Given the description of an element on the screen output the (x, y) to click on. 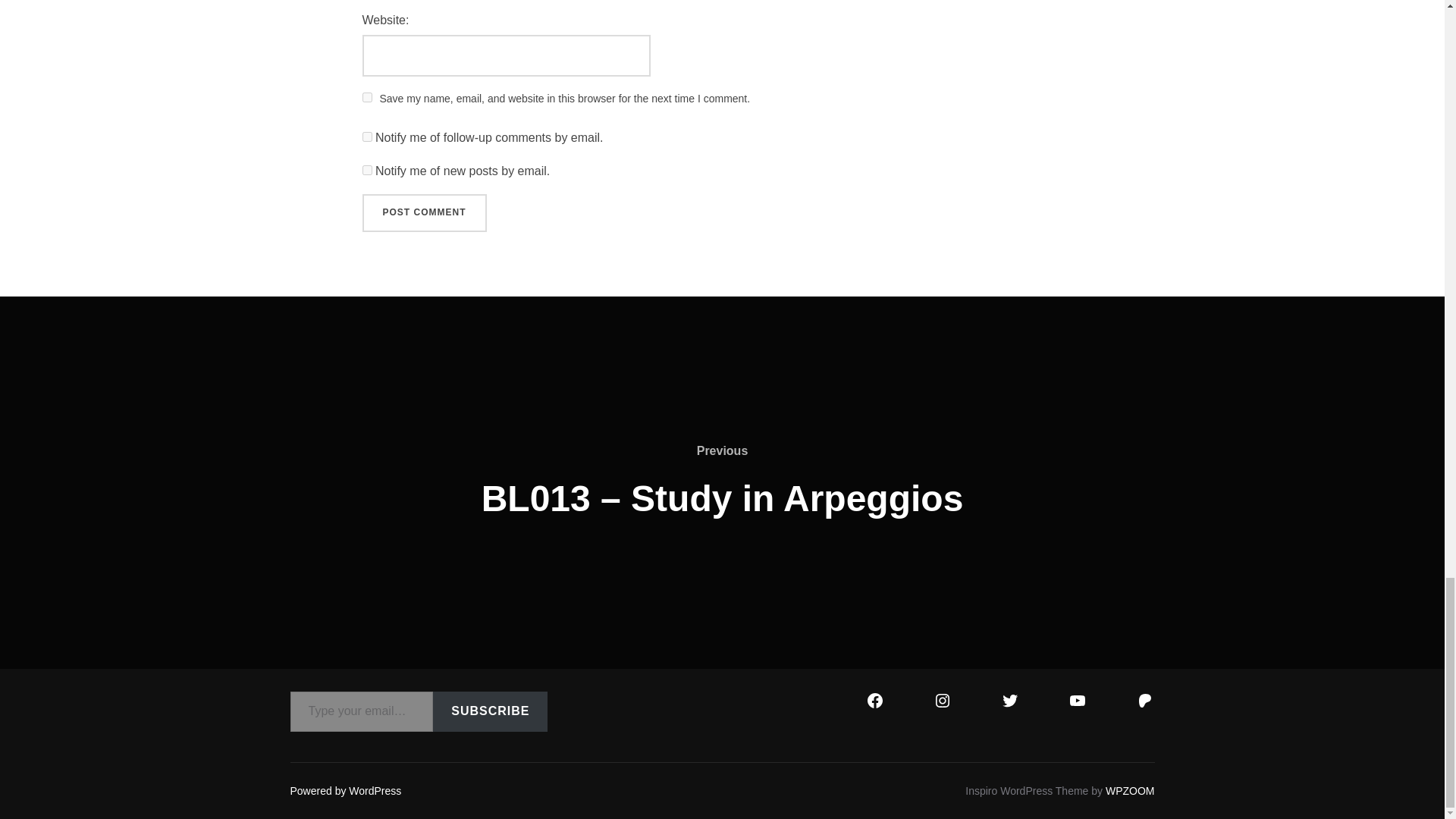
Please fill in this field. (360, 711)
subscribe (367, 170)
subscribe (367, 136)
yes (367, 97)
Post Comment (424, 212)
